Given the description of an element on the screen output the (x, y) to click on. 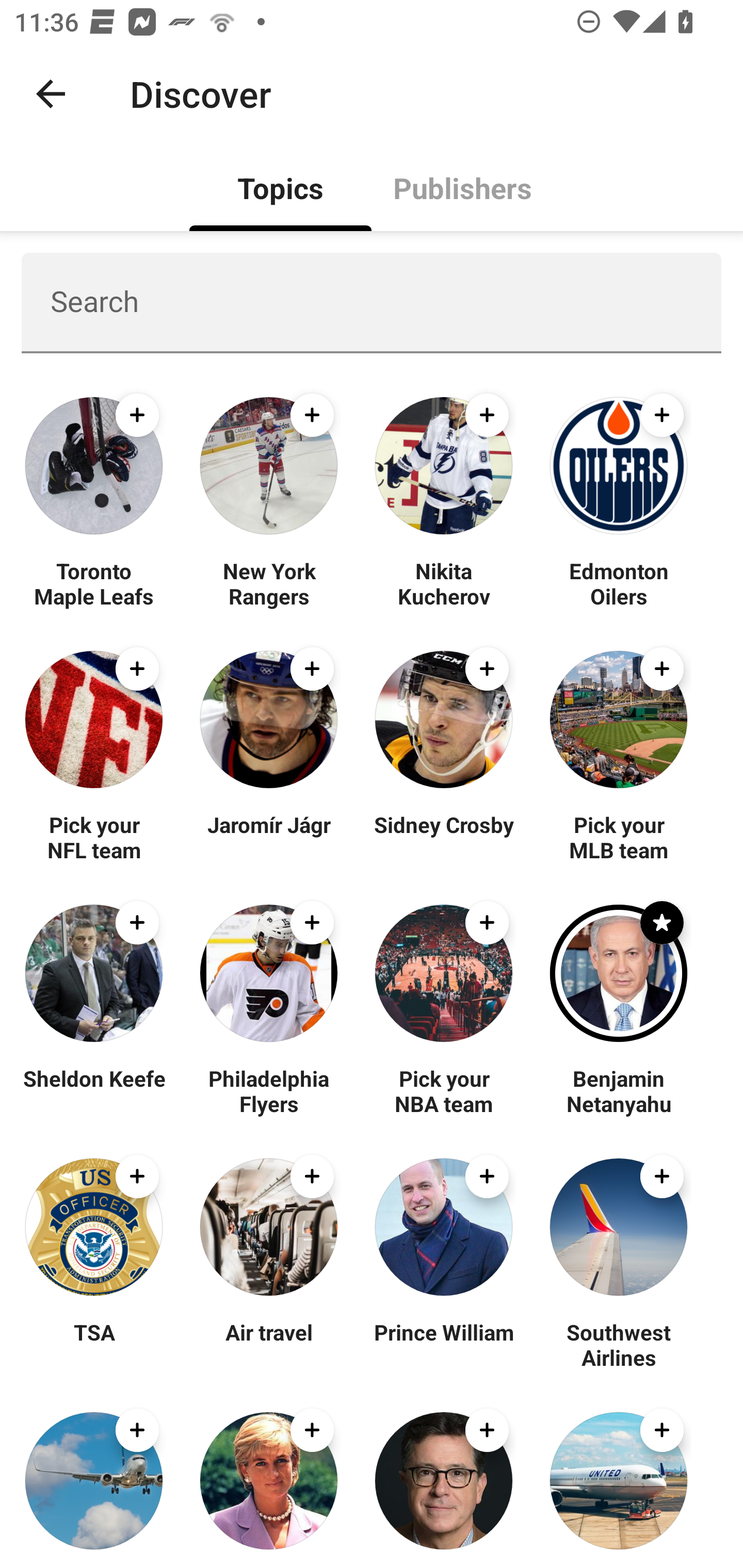
Publishers (462, 187)
Search (371, 302)
Toronto Maple Leafs (93, 582)
New York Rangers (268, 582)
Nikita Kucherov (443, 582)
Edmonton Oilers (618, 582)
Pick your NFL team (93, 836)
Jaromír Jágr (268, 836)
Sidney Crosby (443, 836)
Pick your MLB team (618, 836)
Sheldon Keefe (93, 1090)
Philadelphia Flyers (268, 1090)
Pick your NBA team (443, 1090)
Benjamin Netanyahu (618, 1090)
TSA (93, 1344)
Air travel (268, 1344)
Prince William (443, 1344)
Southwest Airlines (618, 1344)
